Given the description of an element on the screen output the (x, y) to click on. 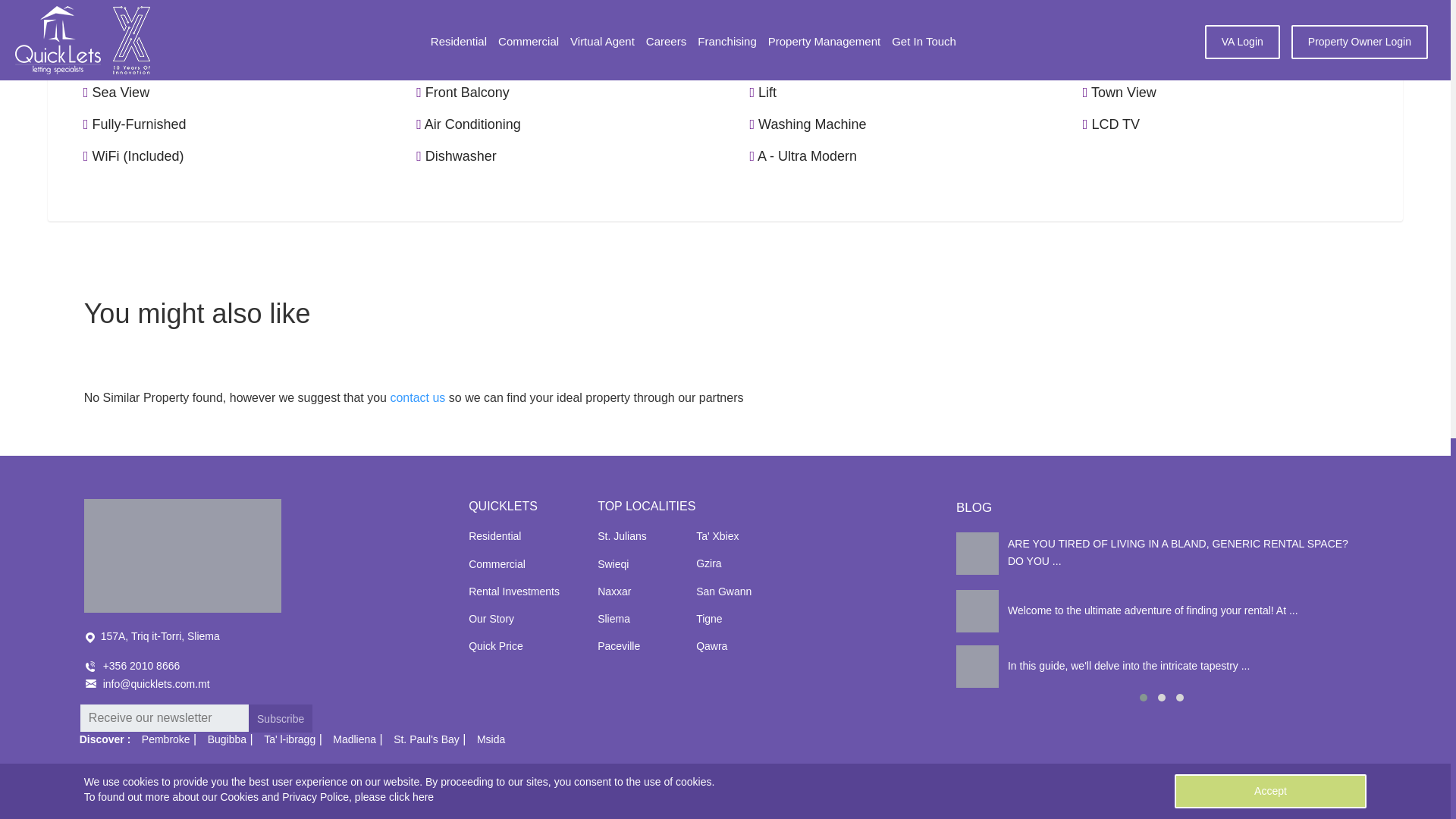
Finding Your Rental: Fun Guide to Rentals (1161, 610)
Subscribe (280, 718)
Description (229, 17)
Quicklets (182, 555)
contact us (417, 397)
Subscribe (280, 718)
Unleash Your Inner Designer: Top DIY Rental Makeovers (1161, 553)
Features (119, 17)
